Given the description of an element on the screen output the (x, y) to click on. 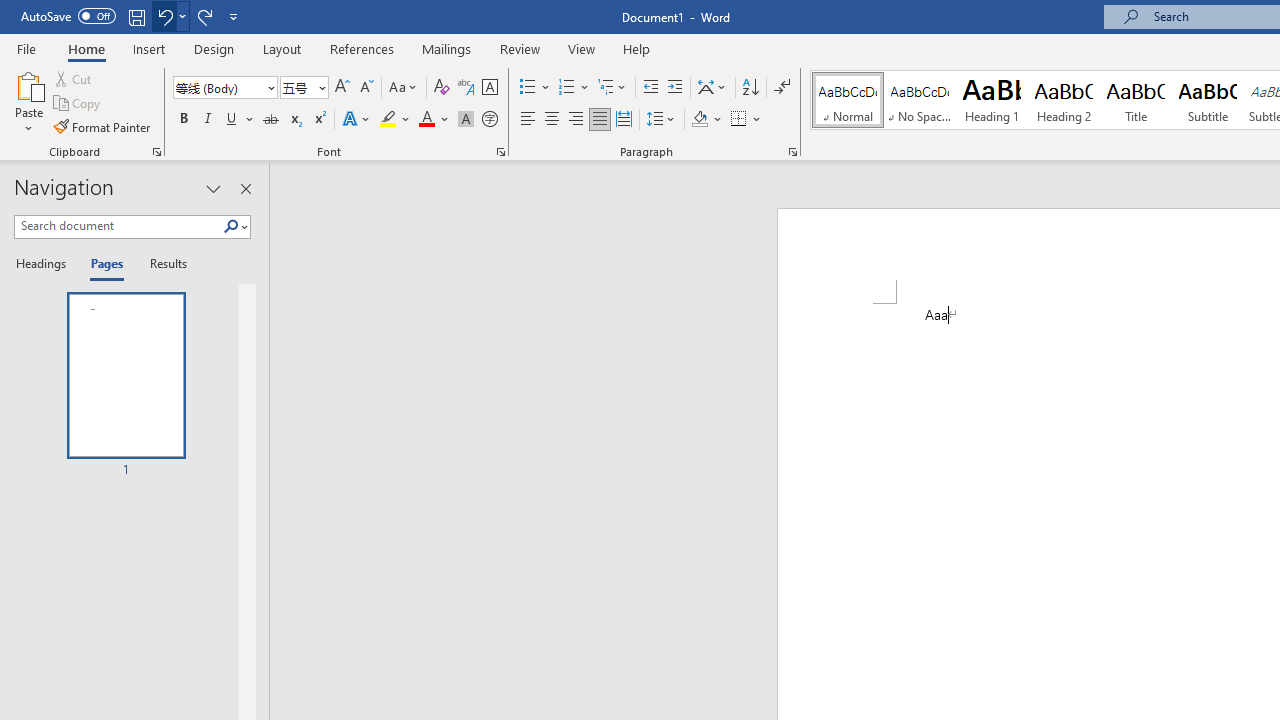
Justify (599, 119)
Headings (45, 264)
Line and Paragraph Spacing (661, 119)
Office Clipboard... (156, 151)
Paste (28, 84)
Underline (232, 119)
Enclose Characters... (489, 119)
Font Color (434, 119)
Undo Increase Indent (170, 15)
Multilevel List (613, 87)
Insert (149, 48)
Heading 2 (1063, 100)
Task Pane Options (214, 188)
Home (86, 48)
Increase Indent (675, 87)
